Given the description of an element on the screen output the (x, y) to click on. 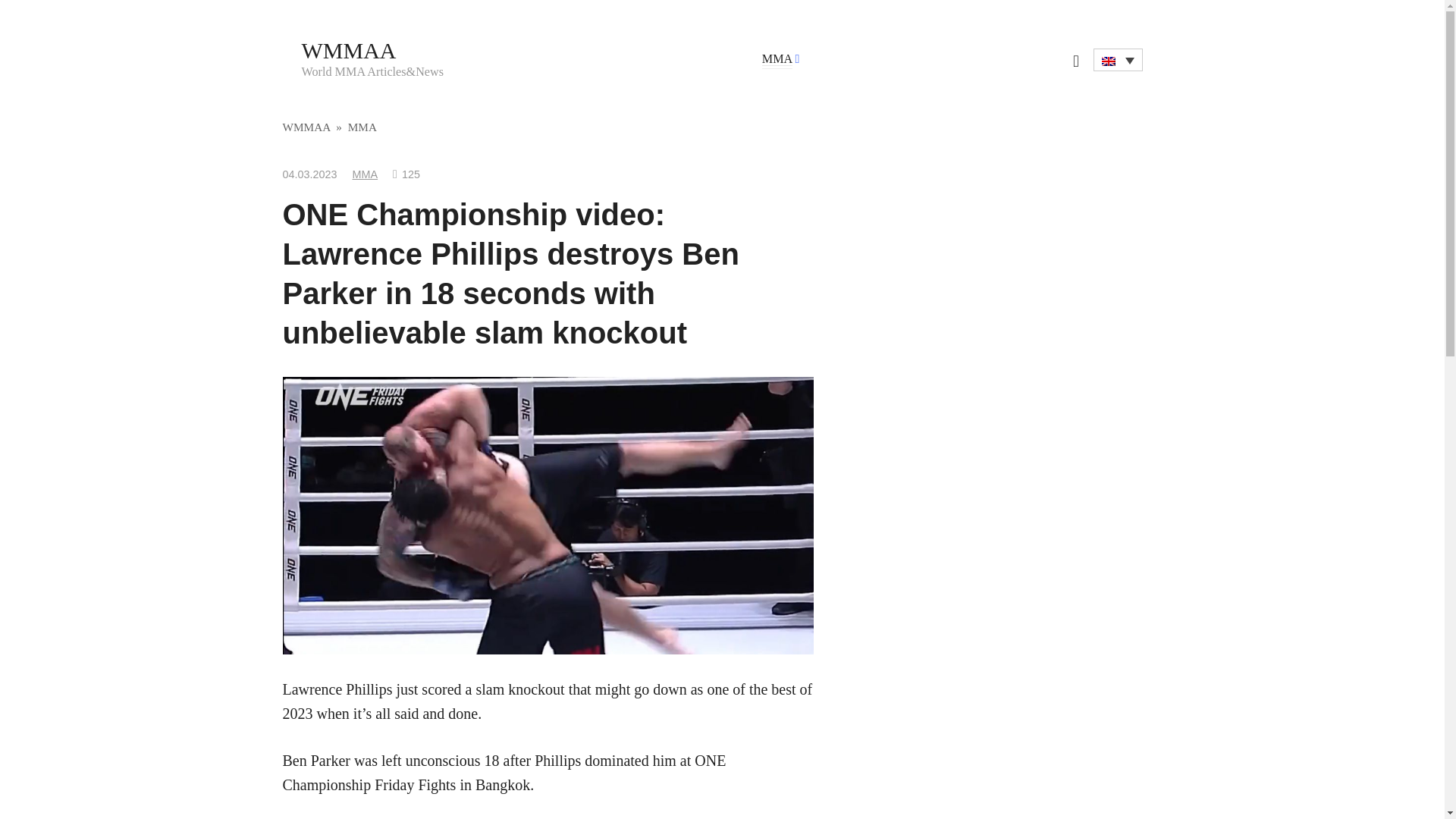
MMA (776, 59)
WMMAA (306, 126)
MMA (362, 126)
MMA (365, 174)
WMMAA (348, 50)
